Given the description of an element on the screen output the (x, y) to click on. 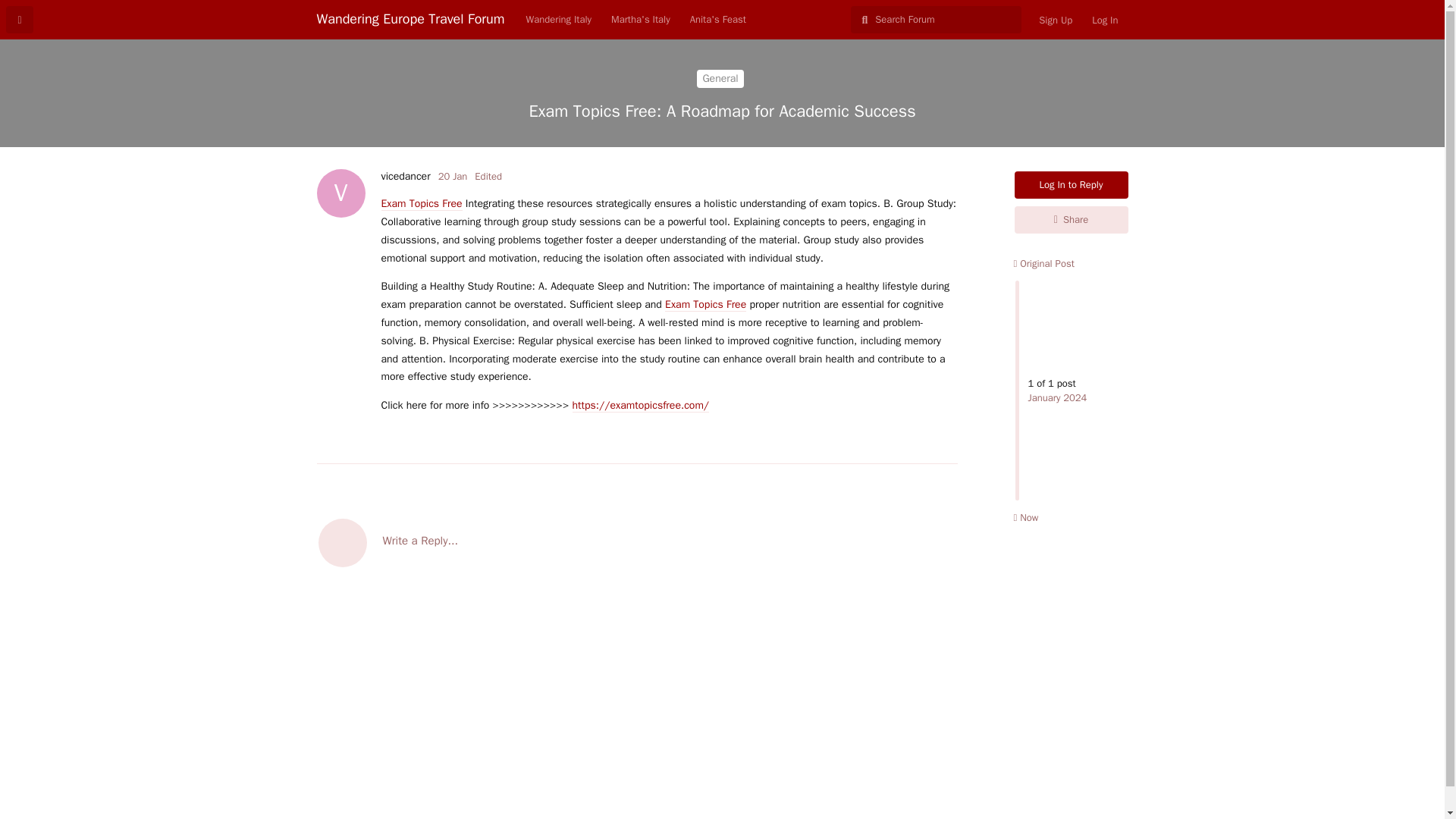
Log In to Reply (404, 175)
General (1071, 185)
Wandering Europe Travel Forum (719, 78)
Original Post (411, 18)
Exam Topics Free (1043, 263)
Sign Up (705, 305)
Exam Topics Free (1055, 19)
Write a Reply... (420, 203)
Anita's Feast (636, 541)
